Given the description of an element on the screen output the (x, y) to click on. 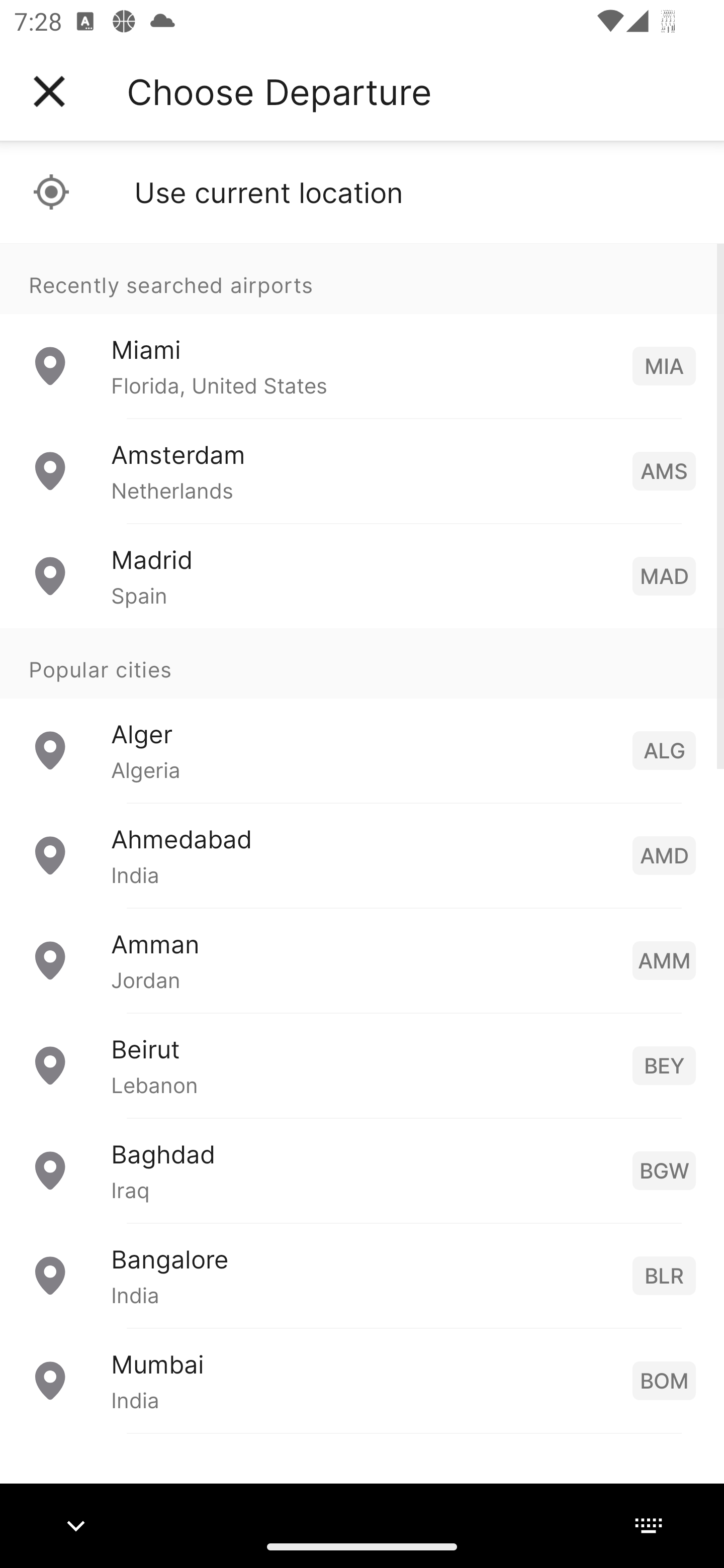
Choose Departure (279, 91)
Use current location (362, 192)
Recently searched airports (362, 278)
Amsterdam Netherlands AMS (362, 470)
Madrid Spain MAD (362, 575)
Popular cities Alger Algeria ALG (362, 715)
Popular cities (362, 663)
Ahmedabad India AMD (362, 854)
Amman Jordan AMM (362, 959)
Beirut Lebanon BEY (362, 1064)
Baghdad Iraq BGW (362, 1170)
Bangalore India BLR (362, 1275)
Mumbai India BOM (362, 1380)
